Given the description of an element on the screen output the (x, y) to click on. 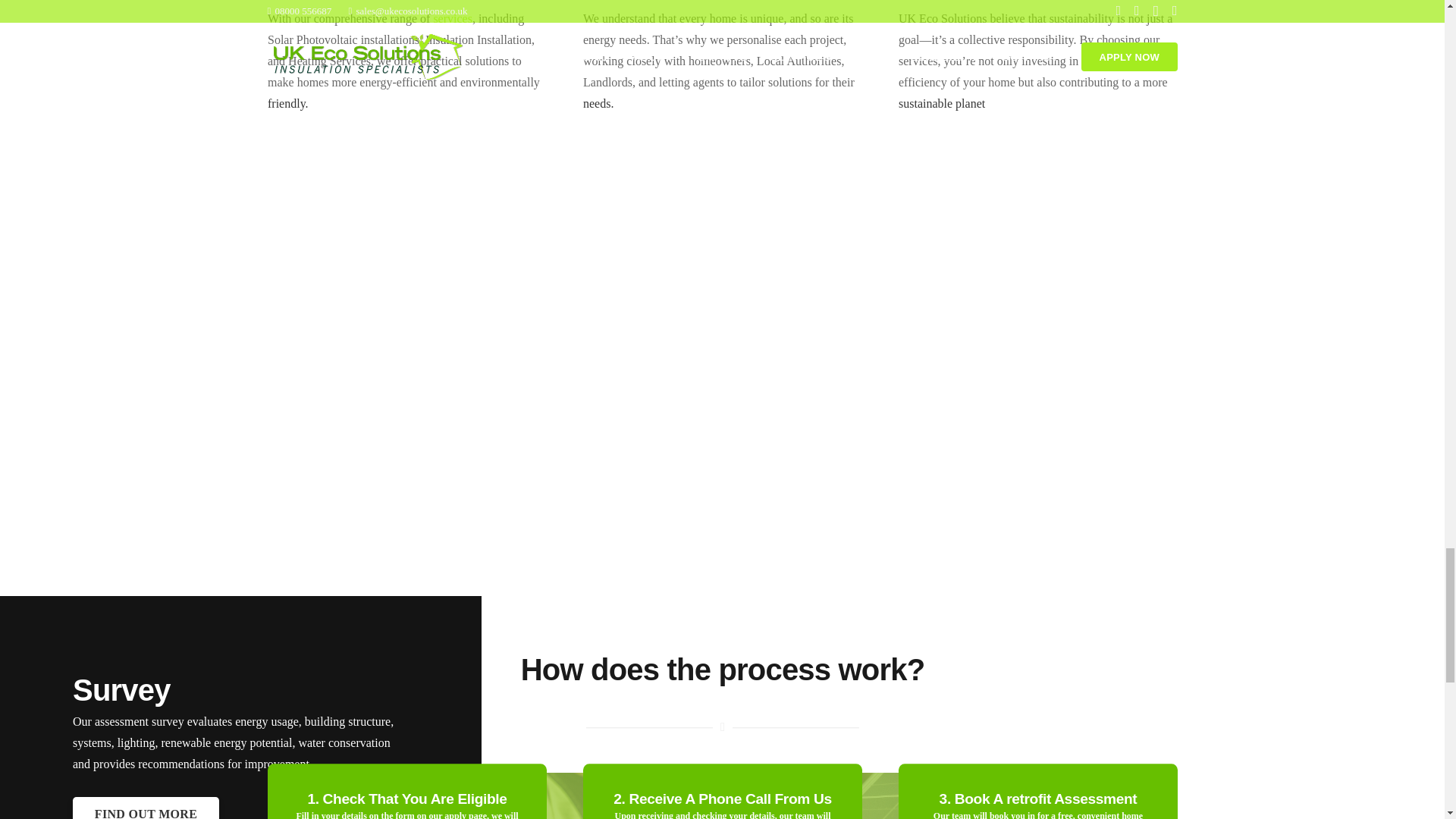
FIND OUT MORE (145, 807)
services (451, 18)
